Given the description of an element on the screen output the (x, y) to click on. 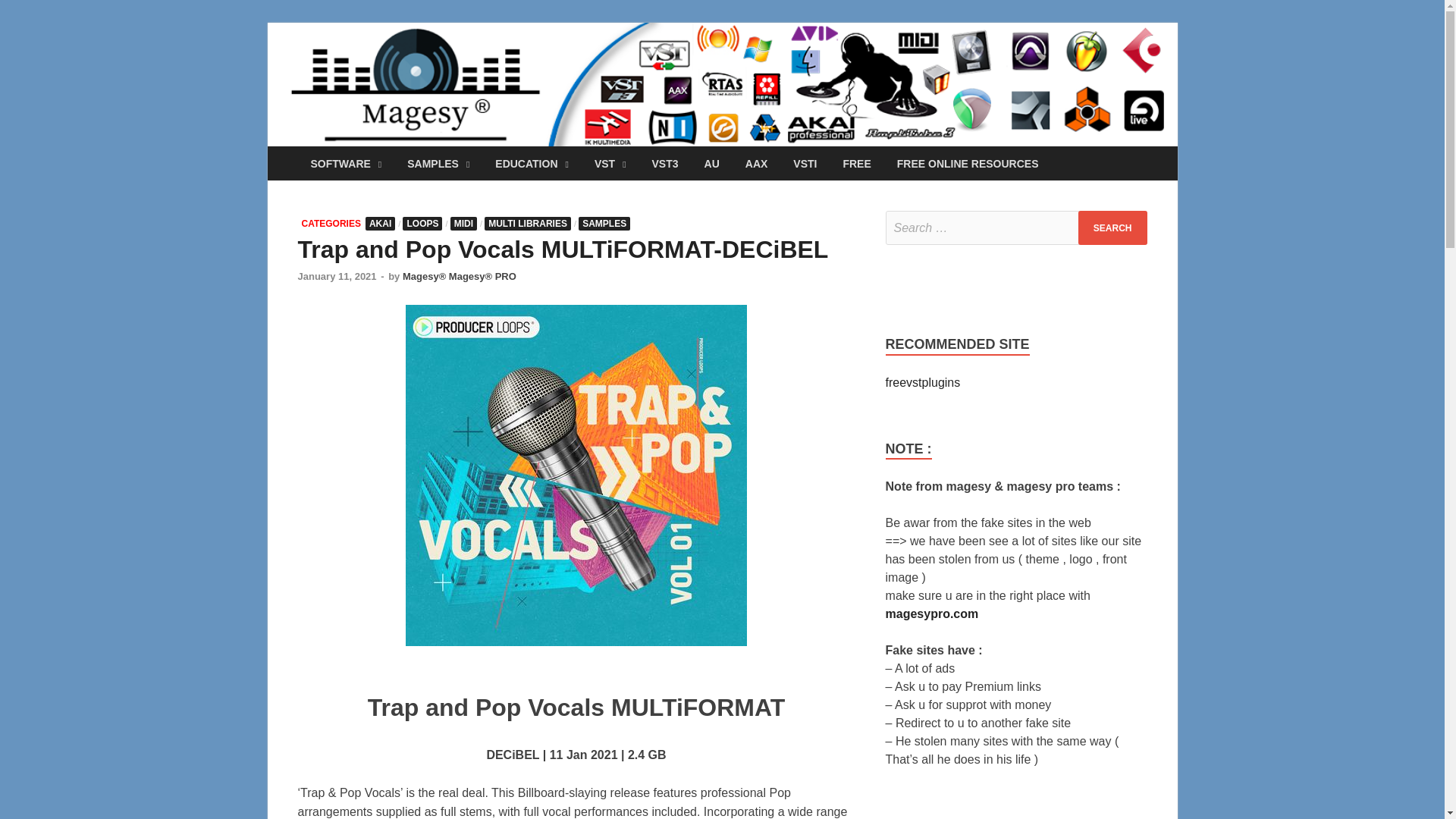
EDUCATION (530, 163)
Search (1112, 227)
FREE ONLINE RESOURCES (967, 163)
VSTI (804, 163)
FREE (856, 163)
VST3 (665, 163)
AAX (756, 163)
AU (711, 163)
Search (1112, 227)
SAMPLES (437, 163)
SOFTWARE (345, 163)
VST (609, 163)
